Given the description of an element on the screen output the (x, y) to click on. 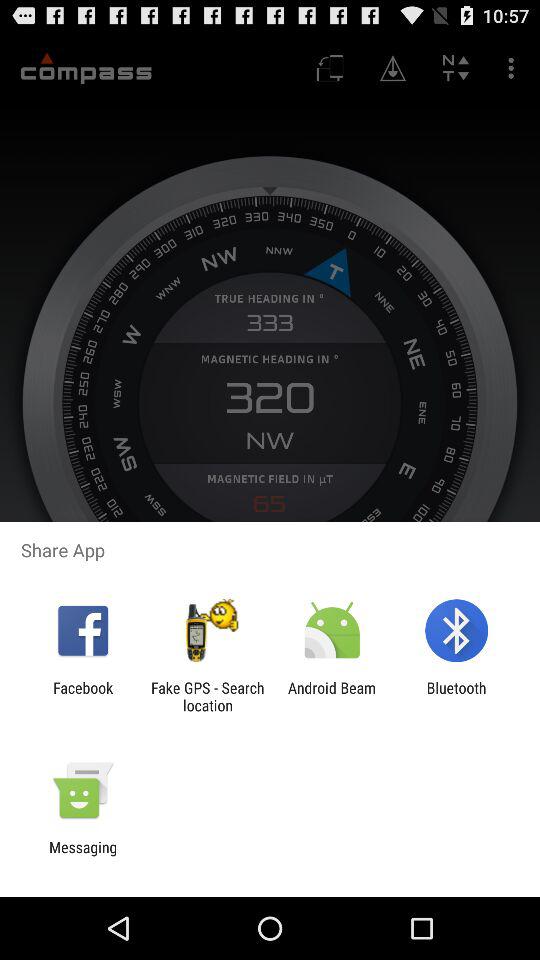
open icon next to the fake gps search item (83, 696)
